Given the description of an element on the screen output the (x, y) to click on. 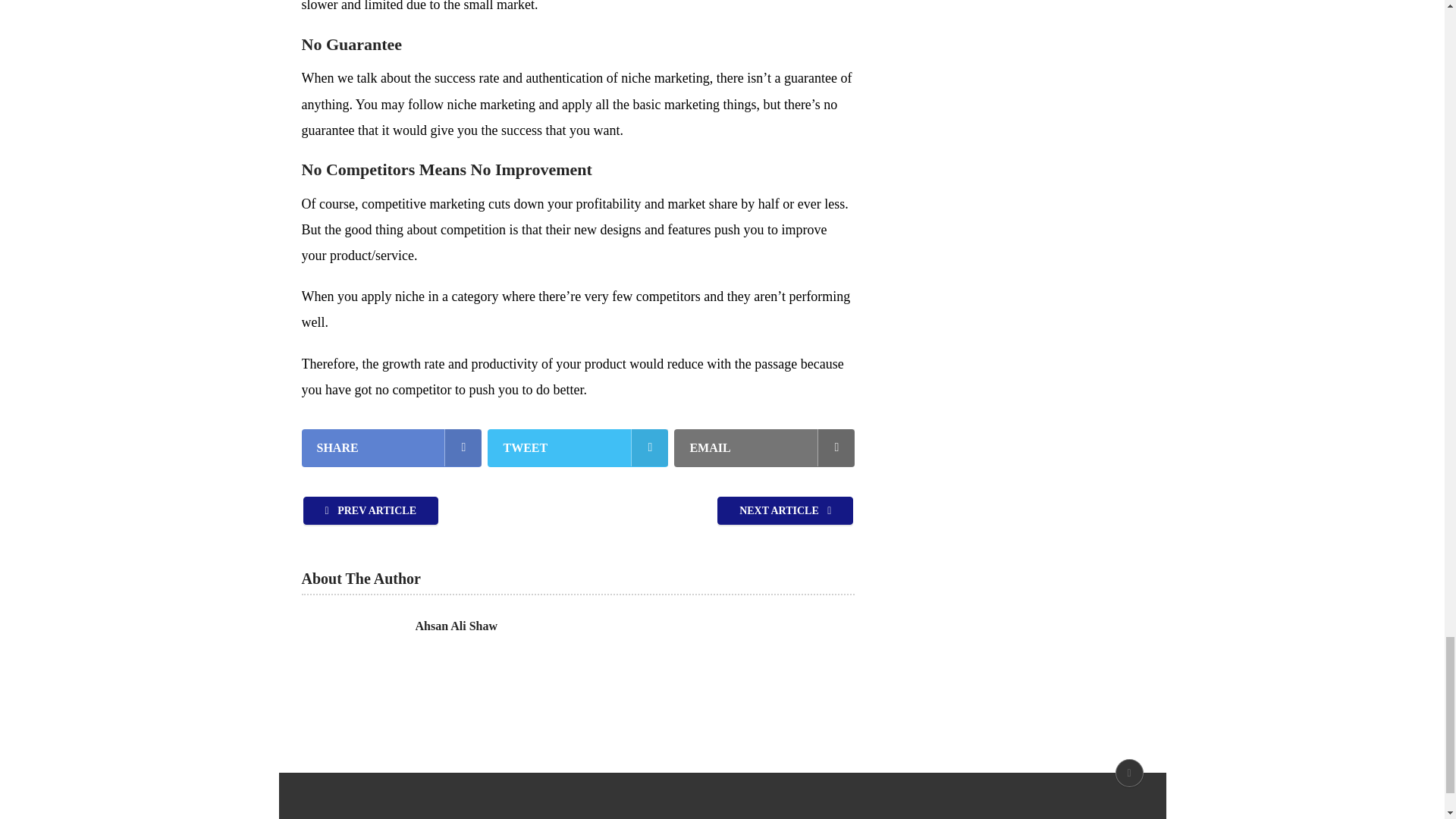
EMAIL (764, 447)
PREV ARTICLE (370, 510)
Ahsan Ali Shaw (455, 626)
SHARE (391, 447)
TWEET (577, 447)
NEXT ARTICLE (785, 510)
